Given the description of an element on the screen output the (x, y) to click on. 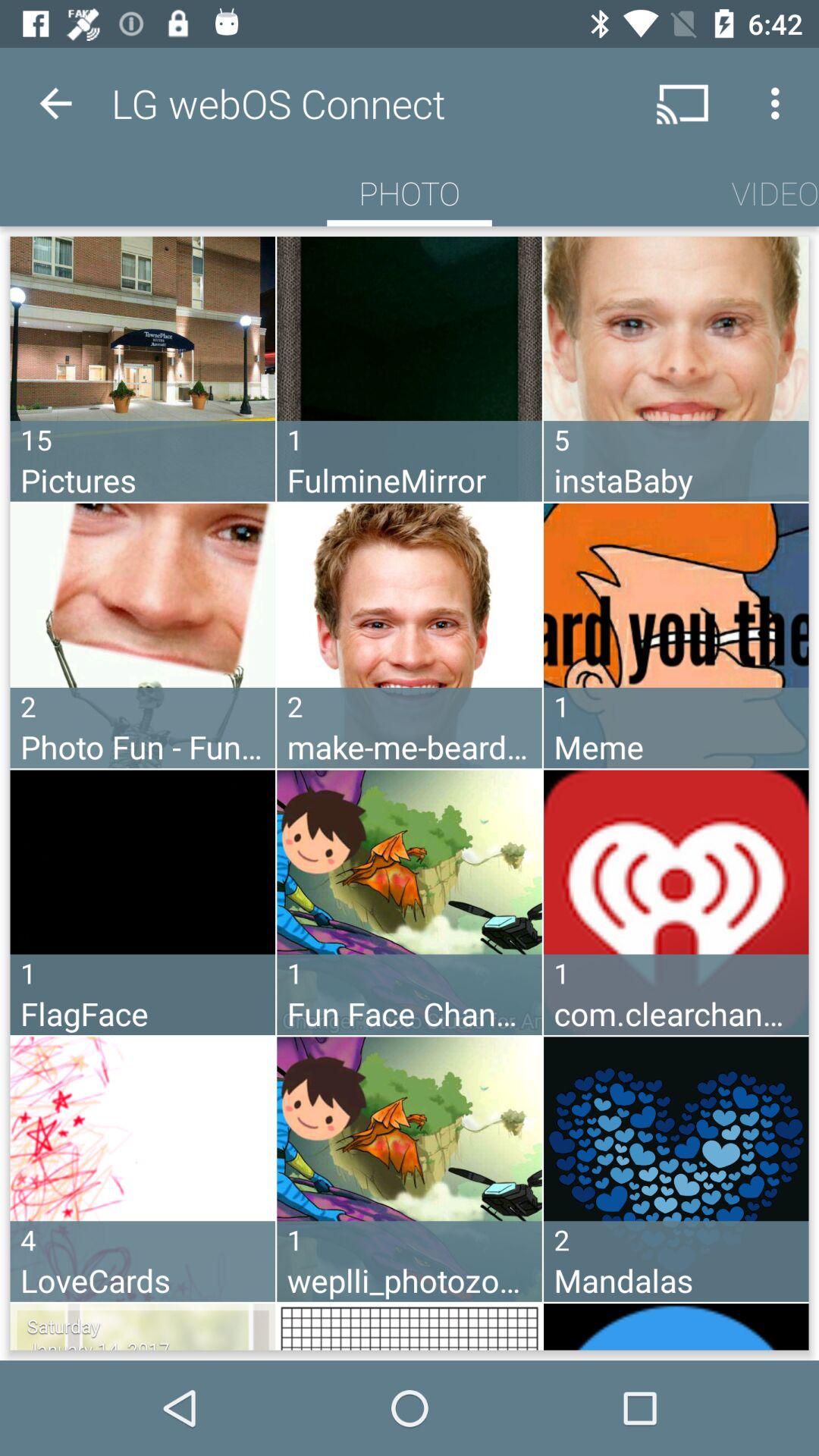
open video icon (775, 192)
